Given the description of an element on the screen output the (x, y) to click on. 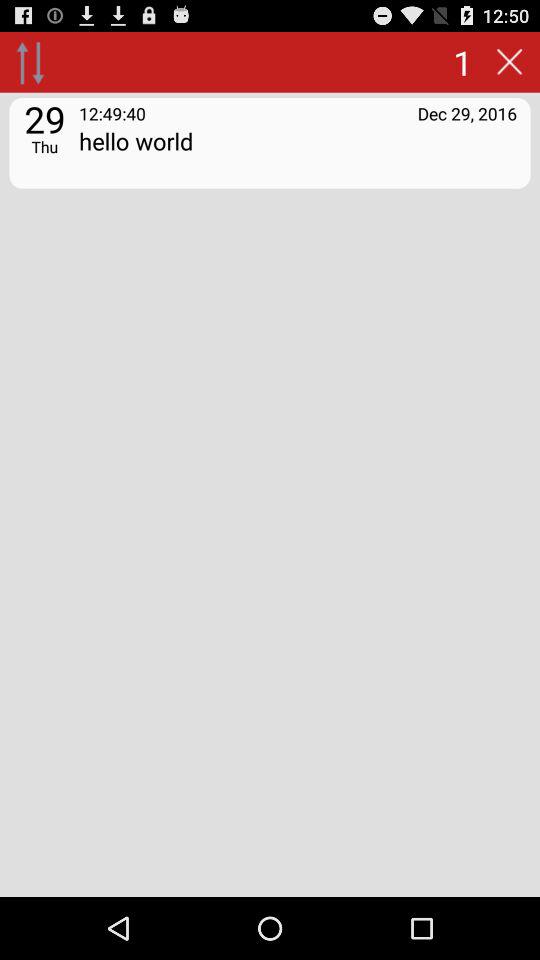
tap the app at the top (298, 154)
